Given the description of an element on the screen output the (x, y) to click on. 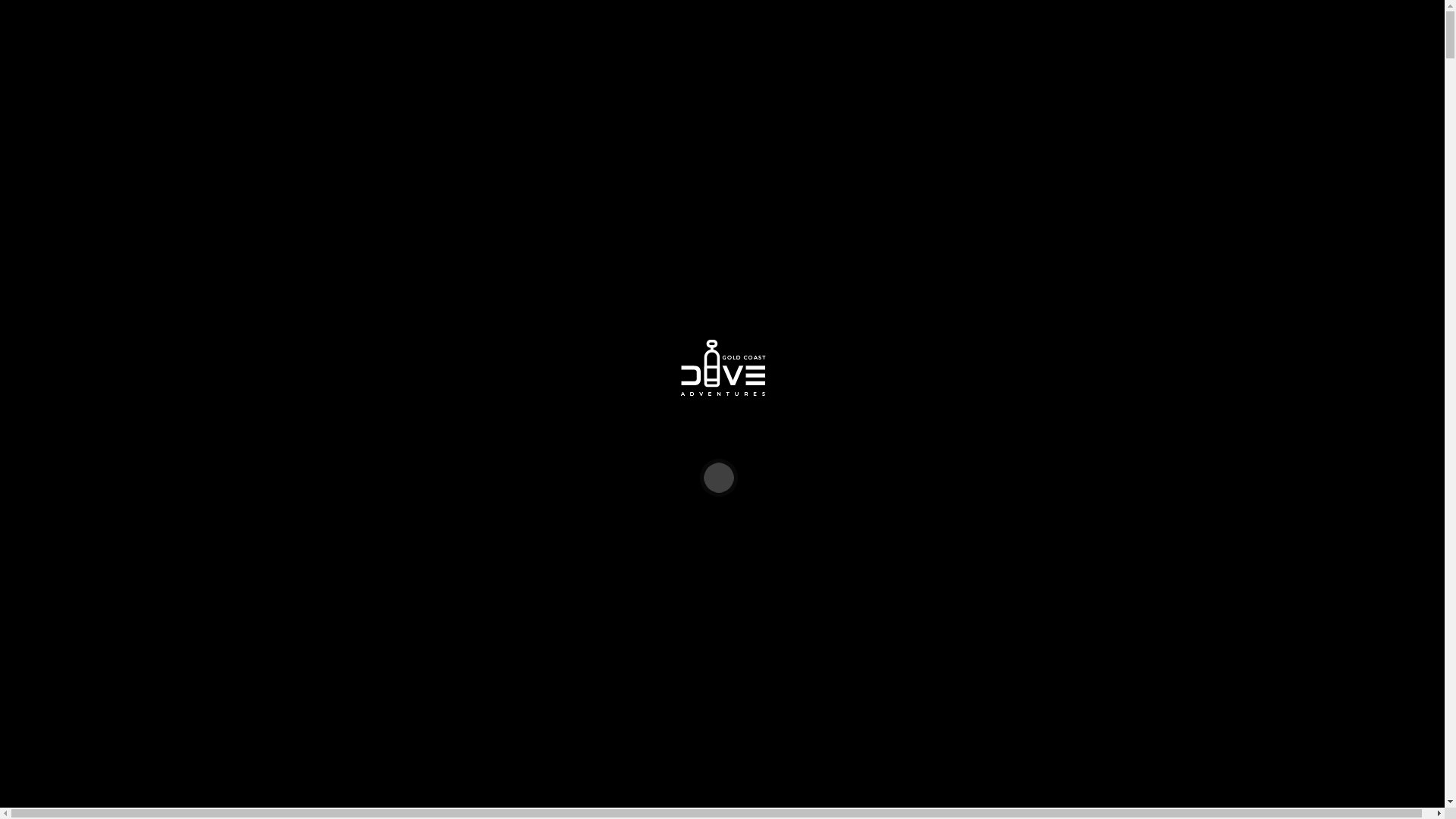
North Stradbroke Island Dive Trip Element type: text (143, 570)
GCDA Travel Element type: text (63, 345)
Dive Site Information Element type: text (113, 638)
Wonder Reef Dive Trip Element type: text (117, 181)
Adventures Beyond the Gold Coast Element type: text (146, 195)
Blog Element type: text (41, 318)
Introductory Scuba Dive Tour Wave Break Island Element type: text (180, 263)
Dive Site Information Element type: text (113, 209)
Premier Introductory Scuba Dive Experience Element type: text (169, 680)
All Dive Trips Element type: text (95, 113)
Cook Island Marine Reserve Element type: text (130, 583)
Contact Element type: text (49, 762)
Premier Introductory Scuba Dive Experience Element type: text (169, 250)
Sea Shepherd Dive Partner Element type: text (125, 486)
Adventures Beyond the Gold Coast Element type: text (146, 624)
9 Mile Reef Dive Trip Element type: text (114, 597)
Club Element type: text (41, 304)
GCDA Element type: hover (47, 418)
Gold Coast Local Reefs & Wrecks Dive Trips Element type: text (171, 556)
Frequently Asked Questions Element type: text (128, 86)
Cook Island Marine Reserve Element type: text (130, 154)
Intro Scuba Element type: text (58, 667)
Dive Trips Element type: text (55, 529)
Freediving Element type: text (56, 708)
Contact Element type: text (49, 332)
Intro Scuba Element type: text (58, 236)
Whale Adventures Element type: text (75, 721)
Frequently Asked Questions Element type: text (128, 514)
Gold Coast Local Reefs & Wrecks Dive Trips Element type: text (171, 127)
Who we are Element type: text (89, 45)
About Element type: text (45, 459)
9 Mile Reef Dive Trip Element type: text (114, 168)
Dive Trips Element type: text (55, 100)
Sea Shepherd Dive Partner Element type: text (125, 59)
Wonder Reef Dive Trip Element type: text (117, 611)
Freediving Element type: text (56, 277)
GCDA Travel Element type: text (63, 776)
Our Team Element type: text (84, 72)
Club Element type: text (41, 735)
Courses Element type: text (49, 652)
North Stradbroke Island Dive Trip Element type: text (143, 140)
Whale Adventures Element type: text (75, 291)
Our Team Element type: text (84, 500)
Who we are Element type: text (89, 473)
All Dive Trips Element type: text (95, 542)
Home Element type: text (44, 444)
Home Element type: text (44, 18)
Courses Element type: text (49, 222)
Blog Element type: text (41, 749)
About Element type: text (45, 31)
Introductory Scuba Dive Tour Wave Break Island Element type: text (180, 694)
